Given the description of an element on the screen output the (x, y) to click on. 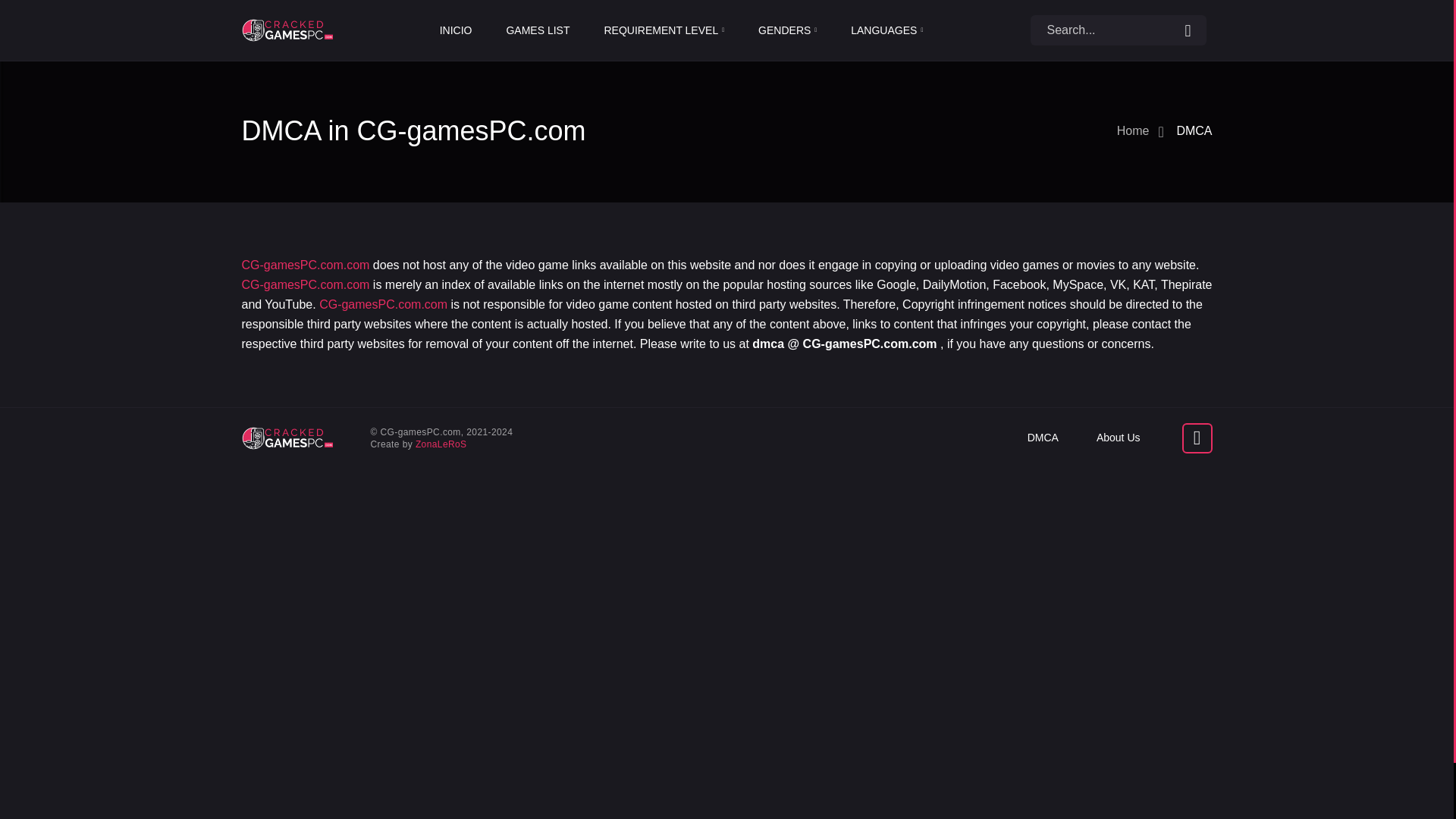
LANGUAGES (886, 30)
GENDERS (787, 30)
GAMES LIST (537, 30)
REQUIREMENT LEVEL (663, 30)
